Given the description of an element on the screen output the (x, y) to click on. 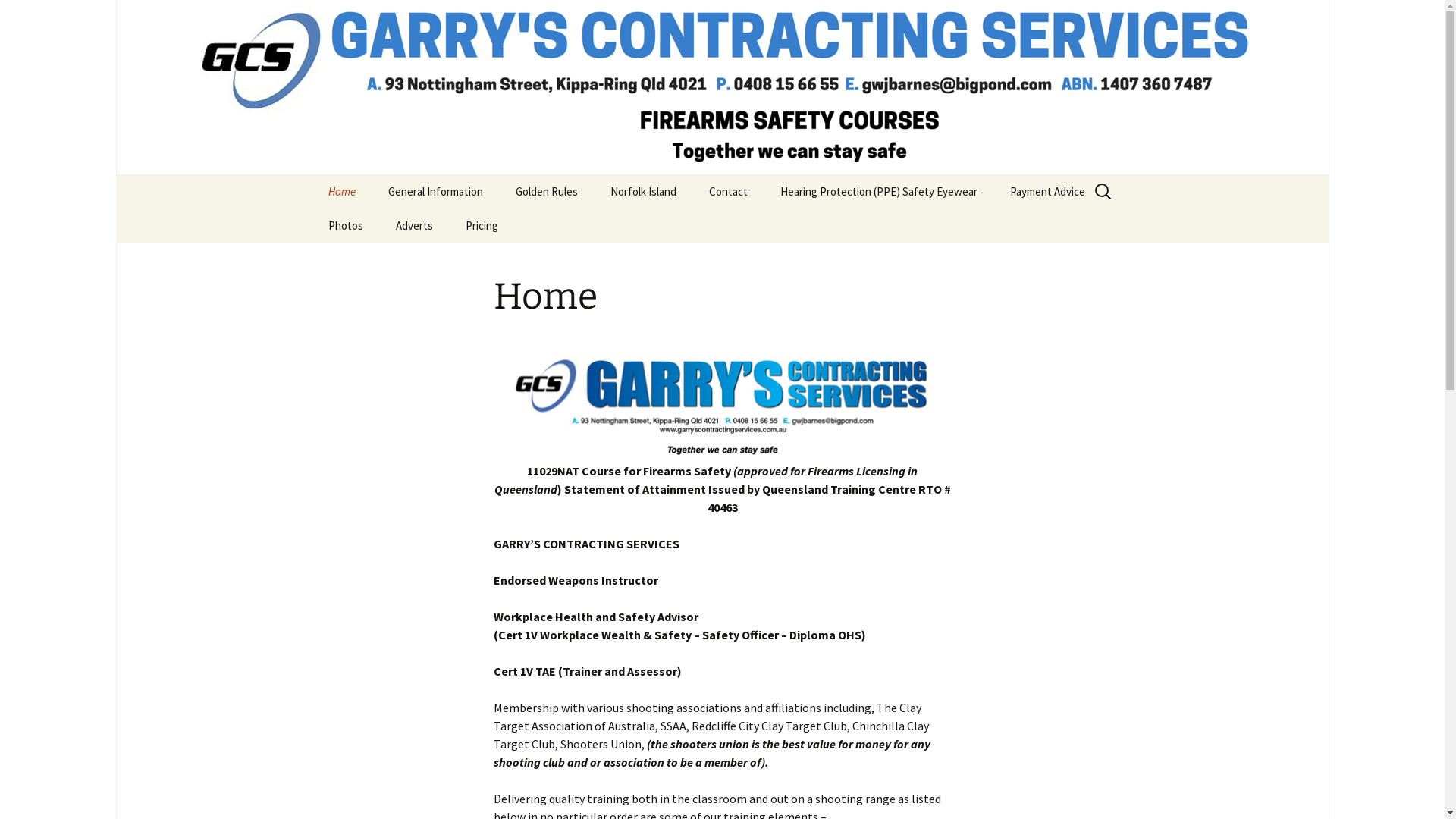
Contact Element type: text (727, 191)
Home Element type: text (341, 191)
Payment Advice Element type: text (1047, 191)
Search Element type: text (34, 15)
Golden Rules Element type: text (546, 191)
General Information Element type: text (435, 191)
Norfolk Island Element type: text (642, 191)
Adverts Element type: text (414, 225)
Photos Element type: text (344, 225)
Skip to content Element type: text (312, 174)
Hearing Protection (PPE) Safety Eyewear Element type: text (877, 191)
Garrys Contracting Services Element type: text (721, 87)
Pricing Element type: text (481, 225)
Search Element type: text (18, 16)
